Given the description of an element on the screen output the (x, y) to click on. 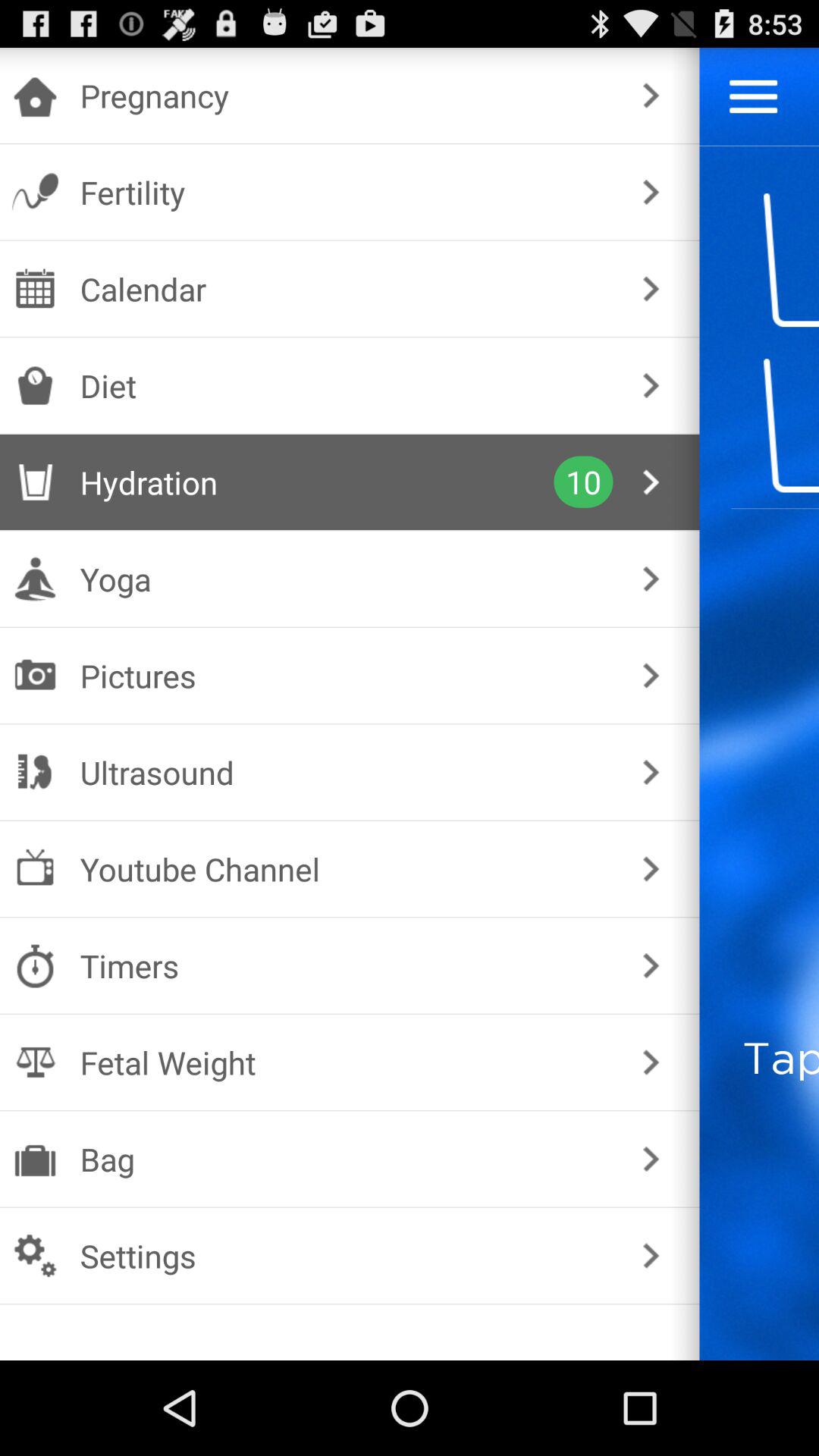
swipe until fertility icon (346, 191)
